Given the description of an element on the screen output the (x, y) to click on. 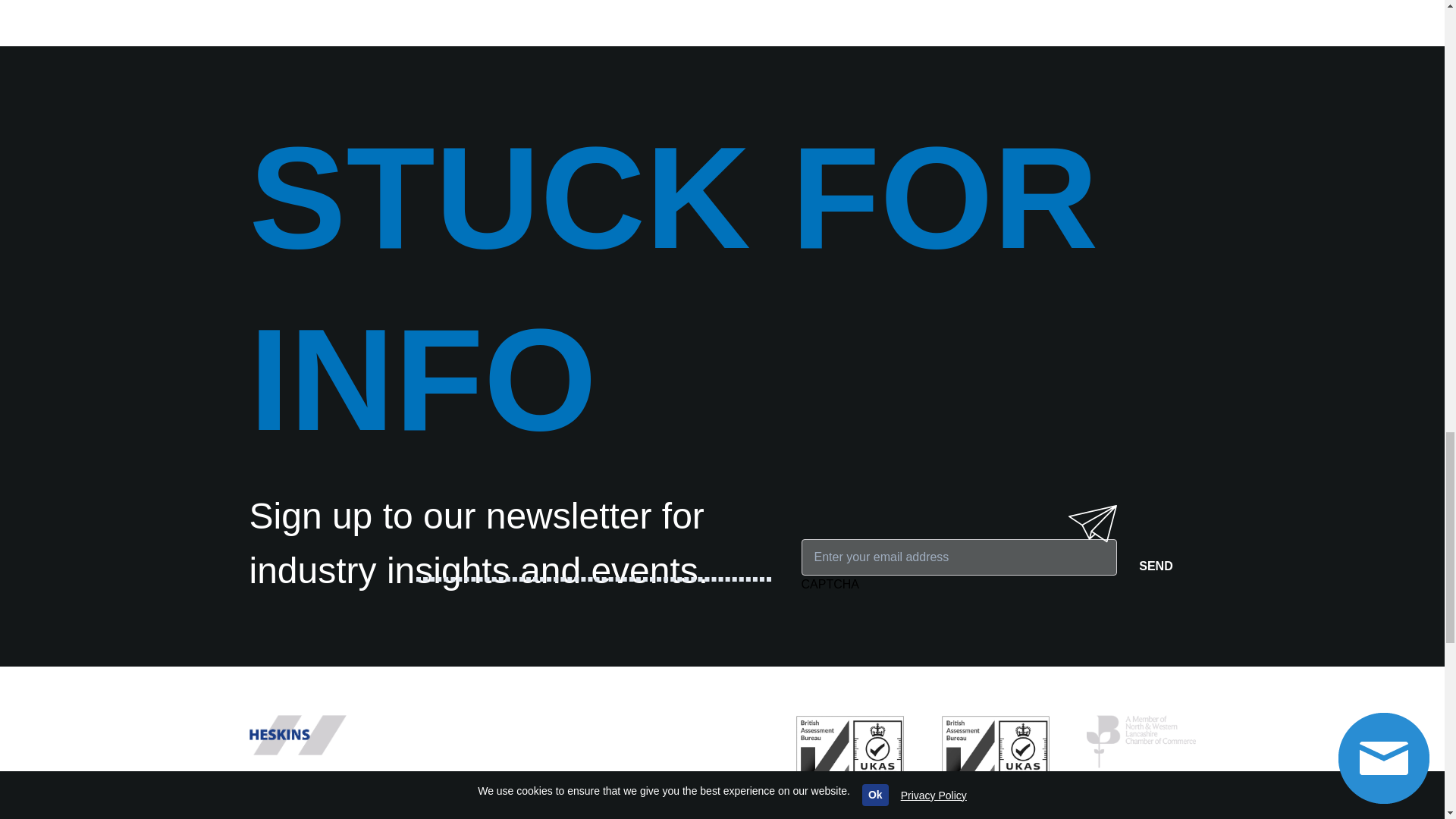
Send (1155, 565)
